Given the description of an element on the screen output the (x, y) to click on. 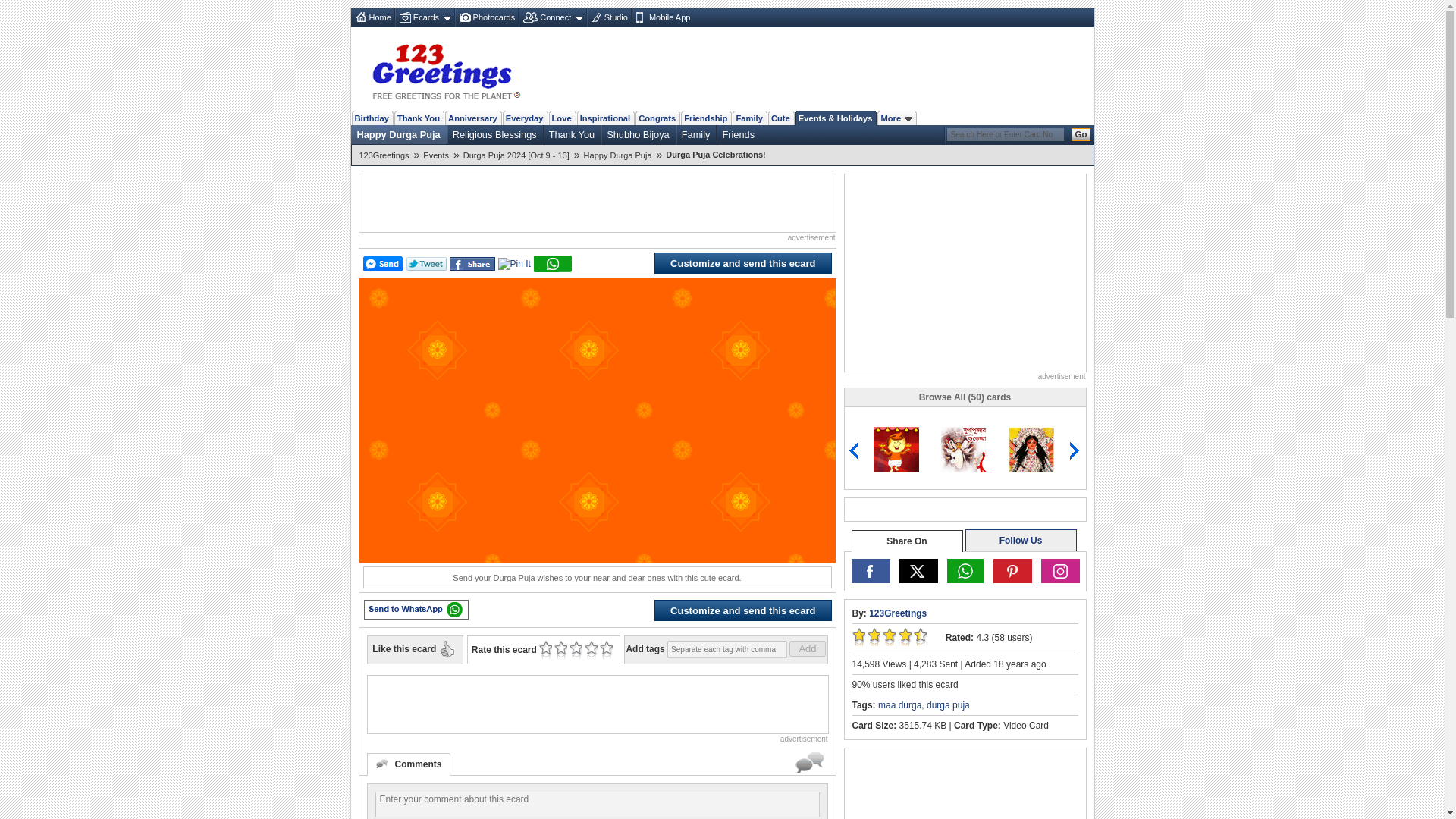
Send free online ecards (424, 17)
Inspirational (604, 117)
Religious Blessings (494, 134)
Ecards (424, 17)
Shubho Bijoya (638, 134)
Download 123Greetings Mobile App (661, 17)
Go (1079, 133)
More (896, 117)
Upload your photo and send as an ecard (486, 17)
Home (371, 17)
